Given the description of an element on the screen output the (x, y) to click on. 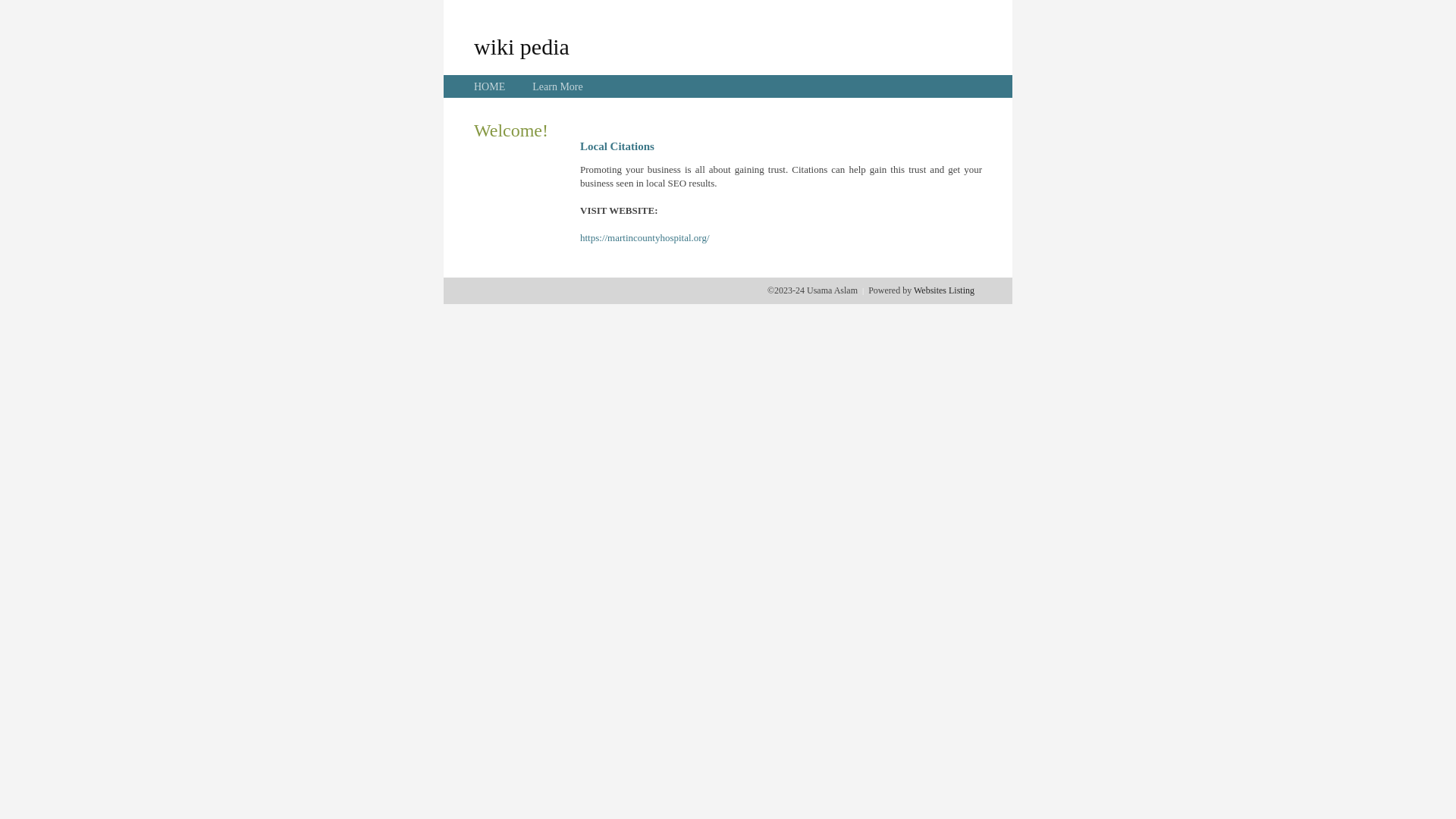
wiki pedia Element type: text (521, 46)
HOME Element type: text (489, 86)
https://martincountyhospital.org/ Element type: text (644, 237)
Websites Listing Element type: text (943, 290)
Learn More Element type: text (557, 86)
